Given the description of an element on the screen output the (x, y) to click on. 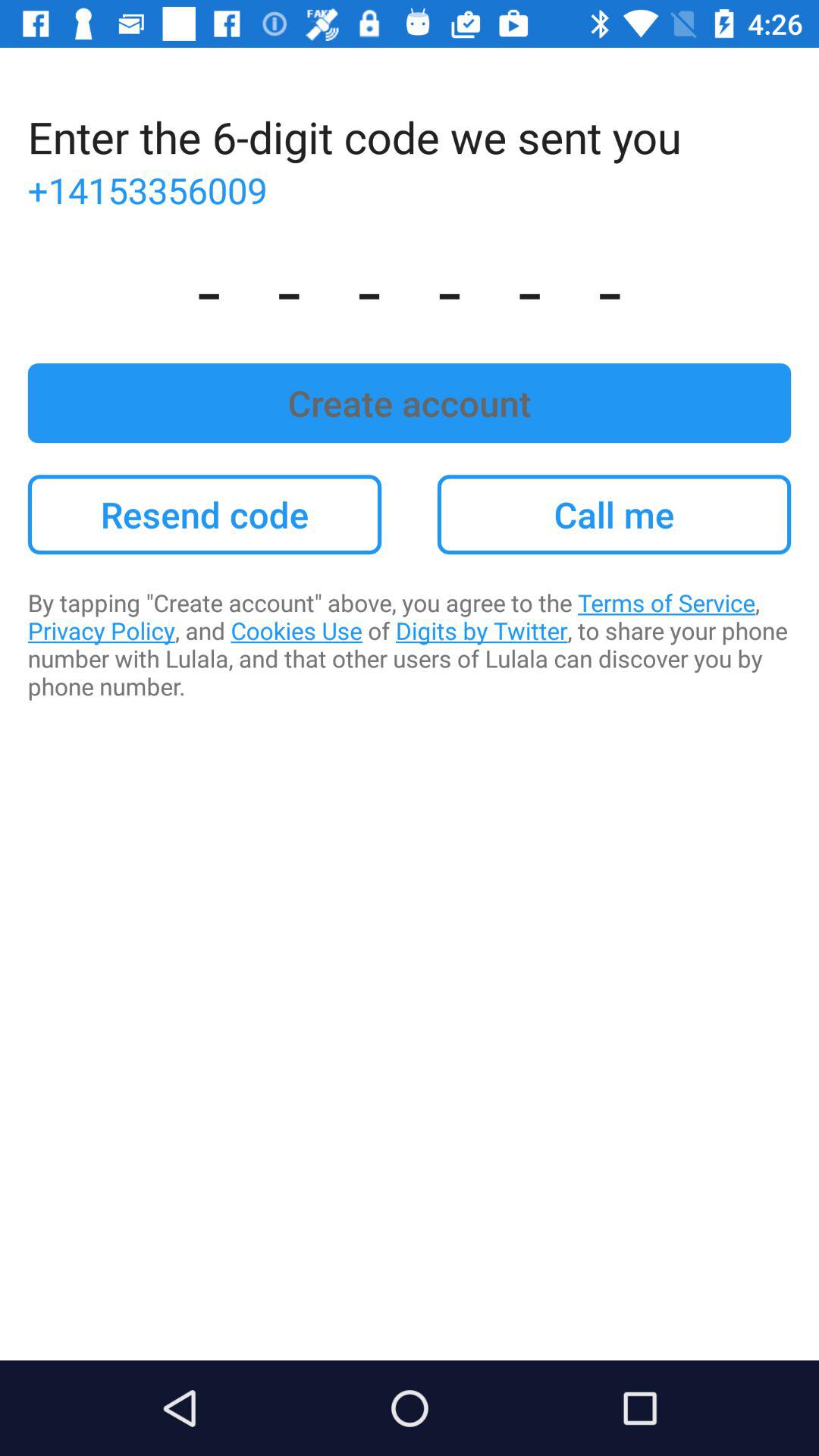
press app above the create account item (409, 288)
